Given the description of an element on the screen output the (x, y) to click on. 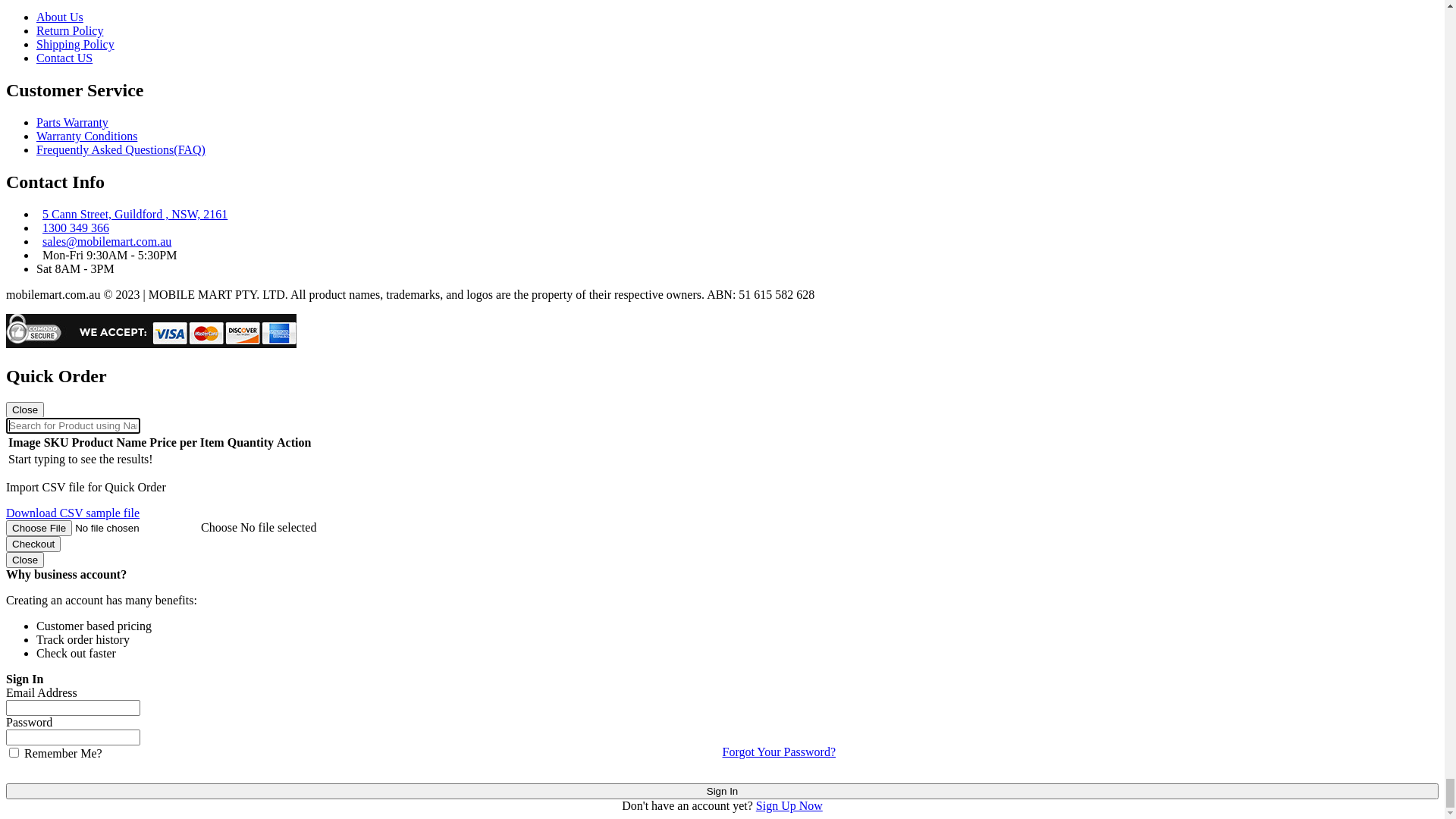
iPhone 15 Element type: text (60, 748)
iPhone 15 Pro Max Element type: text (83, 707)
Apple Element type: text (50, 302)
iPhone 15 Pro Element type: text (70, 721)
Search Element type: text (28, 199)
My Cart $0 Element type: text (34, 263)
IPhone 14 Pro Max Element type: text (83, 762)
IPhone 14 Pro Element type: text (71, 775)
Quick Order Element type: text (722, 218)
Log In Element type: text (52, 65)
MobileMart Element type: hover (129, 126)
Skip to Content Element type: text (43, 25)
IPhone 14 Plus Element type: text (72, 789)
Advanced Search Element type: text (48, 183)
MobileMart Element type: hover (129, 107)
Register Element type: text (26, 235)
IPhone Element type: text (247, 693)
iPhone 15 Plus Element type: text (72, 734)
My Account Element type: text (36, 249)
IPhone 14 Element type: text (60, 803)
Menu Element type: text (20, 276)
